Given the description of an element on the screen output the (x, y) to click on. 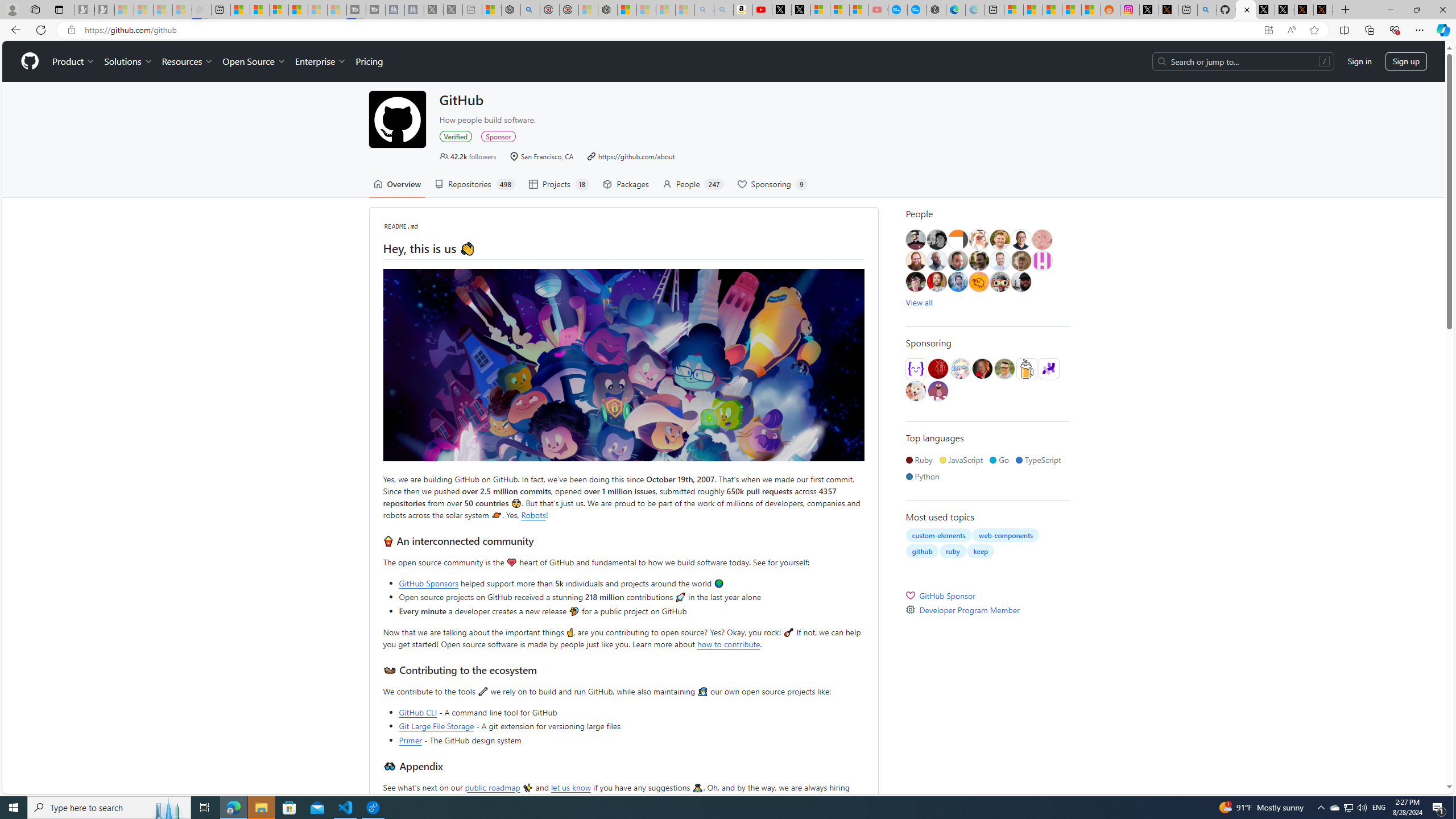
TypeScript (1039, 459)
Overview (279, 9)
@nathos (957, 260)
Primer (410, 739)
@matthewd (957, 239)
Gloom - YouTube - Sleeping (877, 9)
@arthurschreiber (978, 239)
Repositories 498 (474, 184)
Sign in (1359, 61)
